Given the description of an element on the screen output the (x, y) to click on. 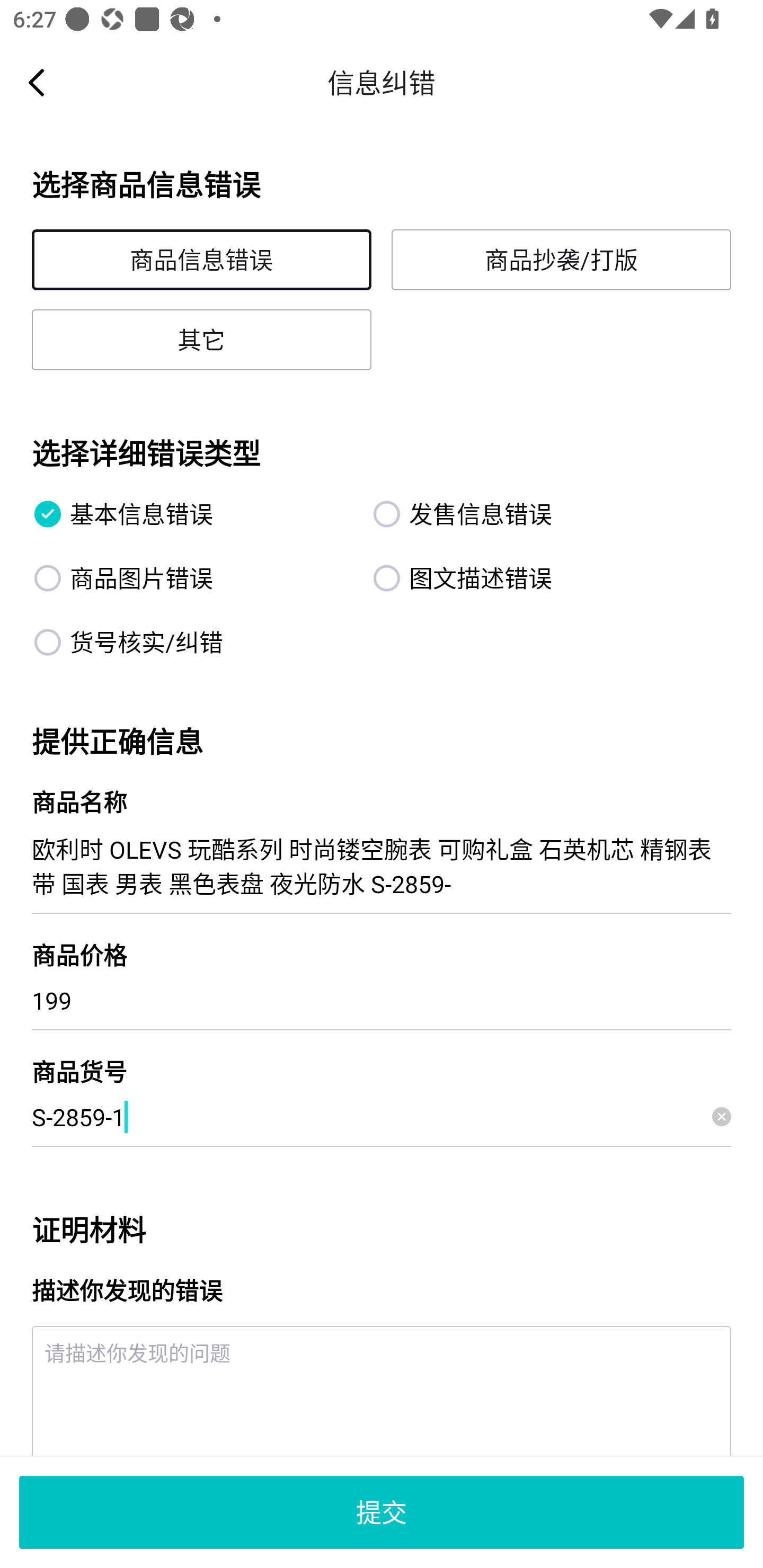
Navigate up (36, 82)
商品信息错误 (201, 259)
商品抄袭/打版 (560, 259)
其它 (201, 339)
 基本信息错误 (191, 513)
 发售信息错误 (530, 513)
 商品图片错误 (191, 577)
 图文描述错误 (530, 577)
 货号核实/纠错 (191, 641)
199 (381, 1000)
S-2859-1 (381, 1116)
请描述你发现的问题 (381, 1390)
提交 (381, 1512)
